Given the description of an element on the screen output the (x, y) to click on. 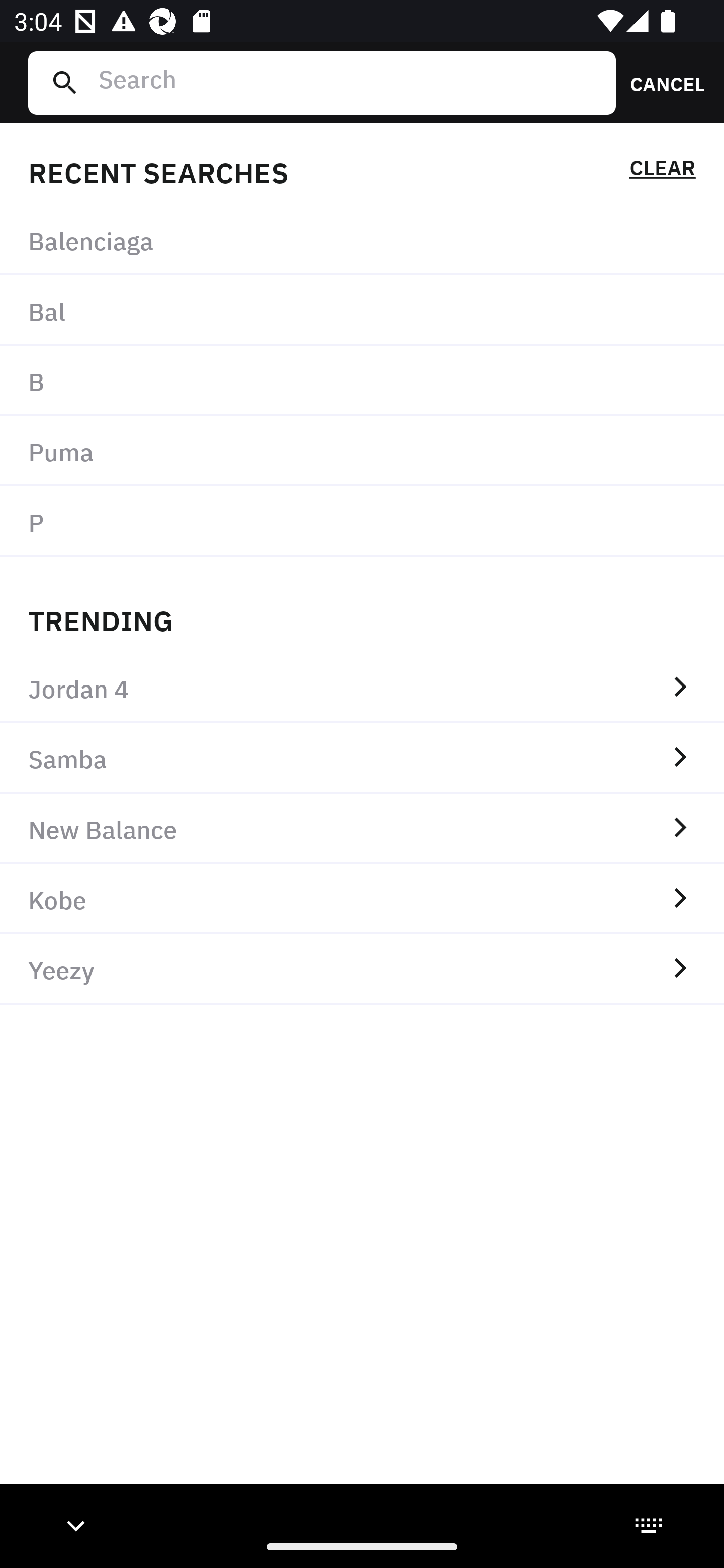
CANCEL (660, 82)
Search (349, 82)
CLEAR (662, 170)
Balenciaga (362, 240)
Bal (362, 310)
B (362, 380)
Puma (362, 450)
P (362, 521)
Jordan 4  (362, 687)
Samba  (362, 757)
New Balance  (362, 828)
Kobe  (362, 898)
Yeezy  (362, 969)
